Given the description of an element on the screen output the (x, y) to click on. 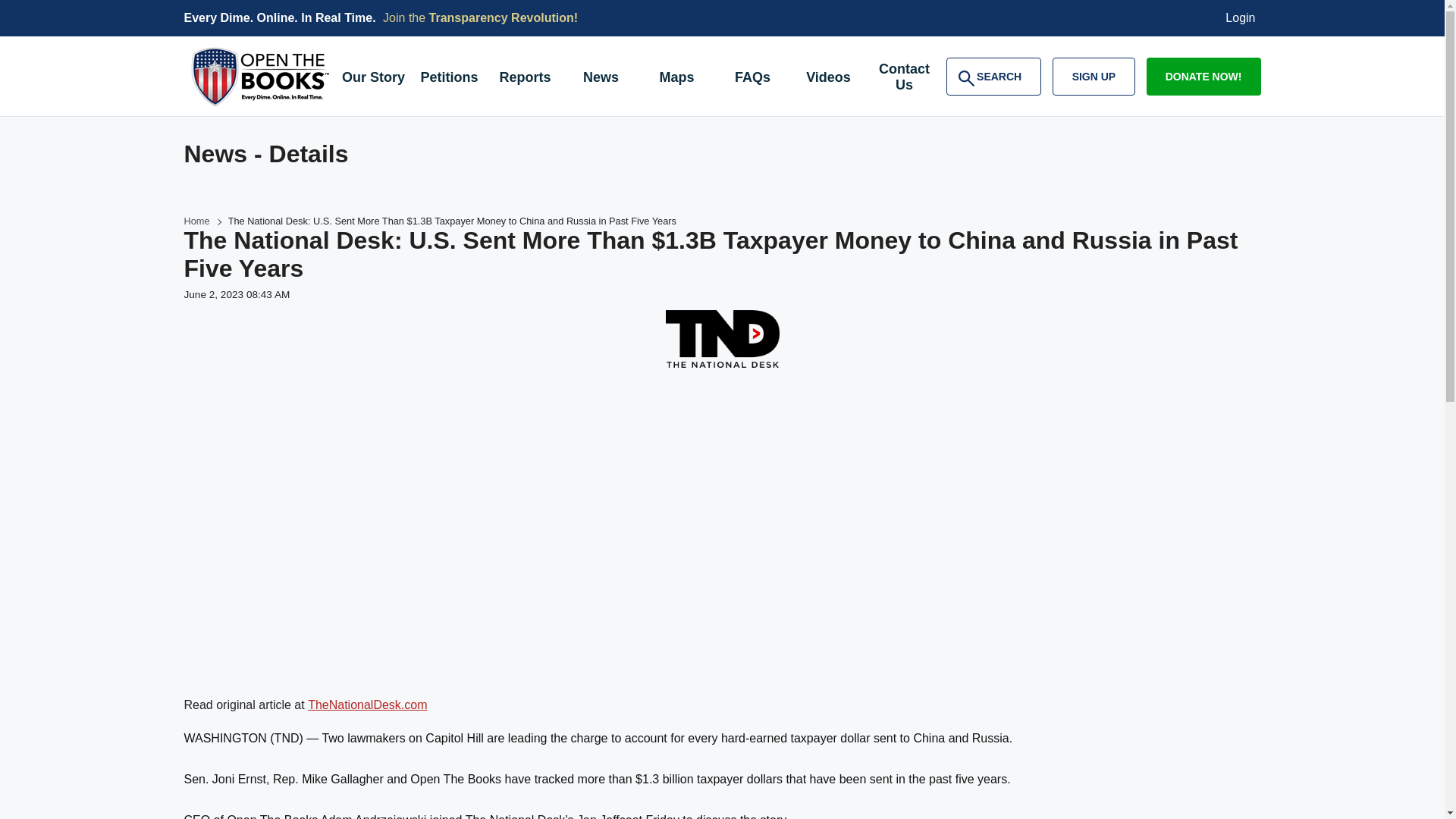
SIGN UP (1093, 76)
Our Story (372, 78)
Reports (524, 78)
Transparency Revolution! (503, 17)
News (600, 78)
DONATE NOW! (1203, 76)
TheNationalDesk.com (366, 704)
Login (993, 76)
Petitions (1240, 18)
